Given the description of an element on the screen output the (x, y) to click on. 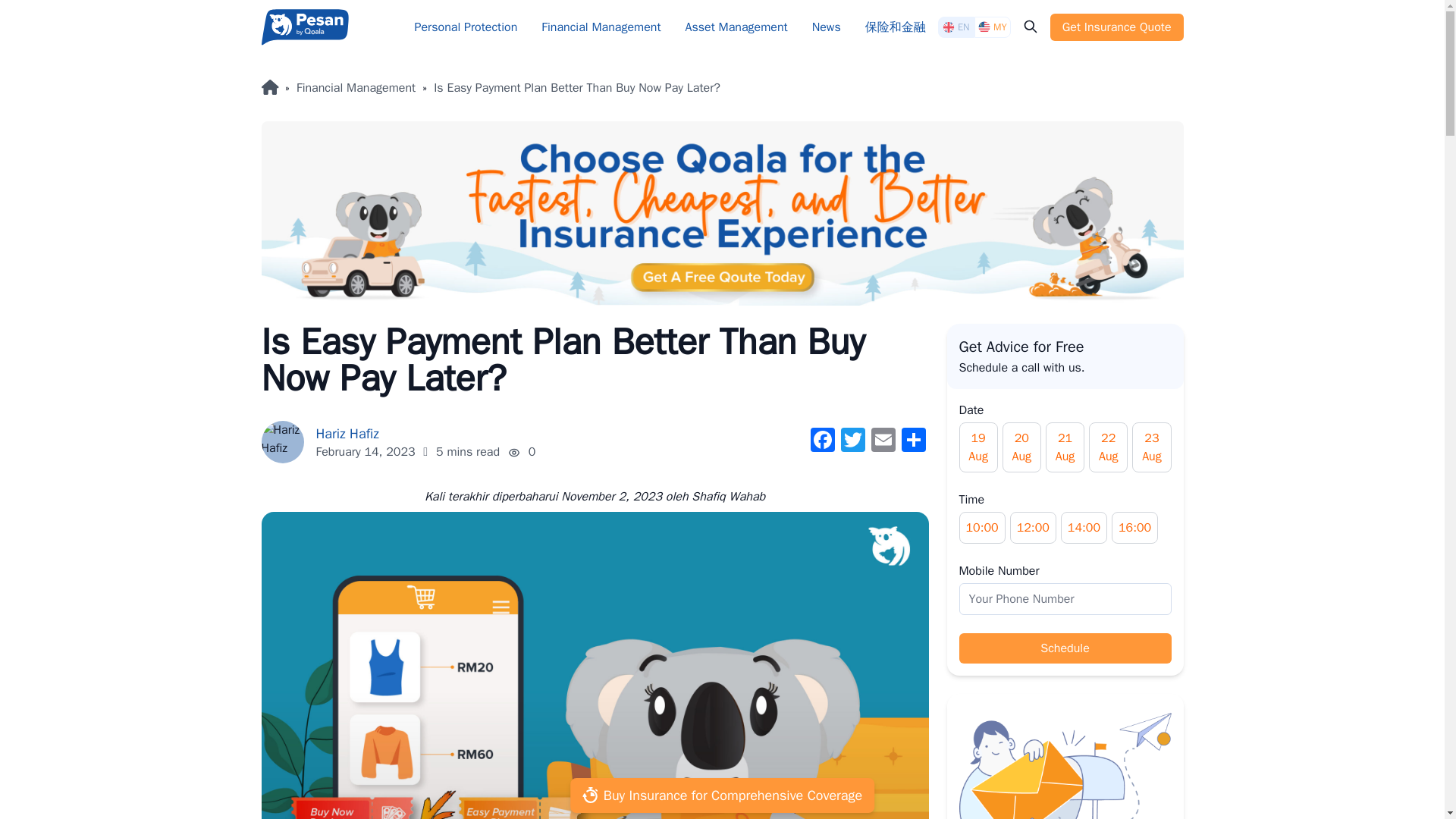
Twitter (852, 441)
Buy Insurance for Comprehensive Coverage (722, 796)
Financial Management (600, 27)
Share (913, 441)
